Given the description of an element on the screen output the (x, y) to click on. 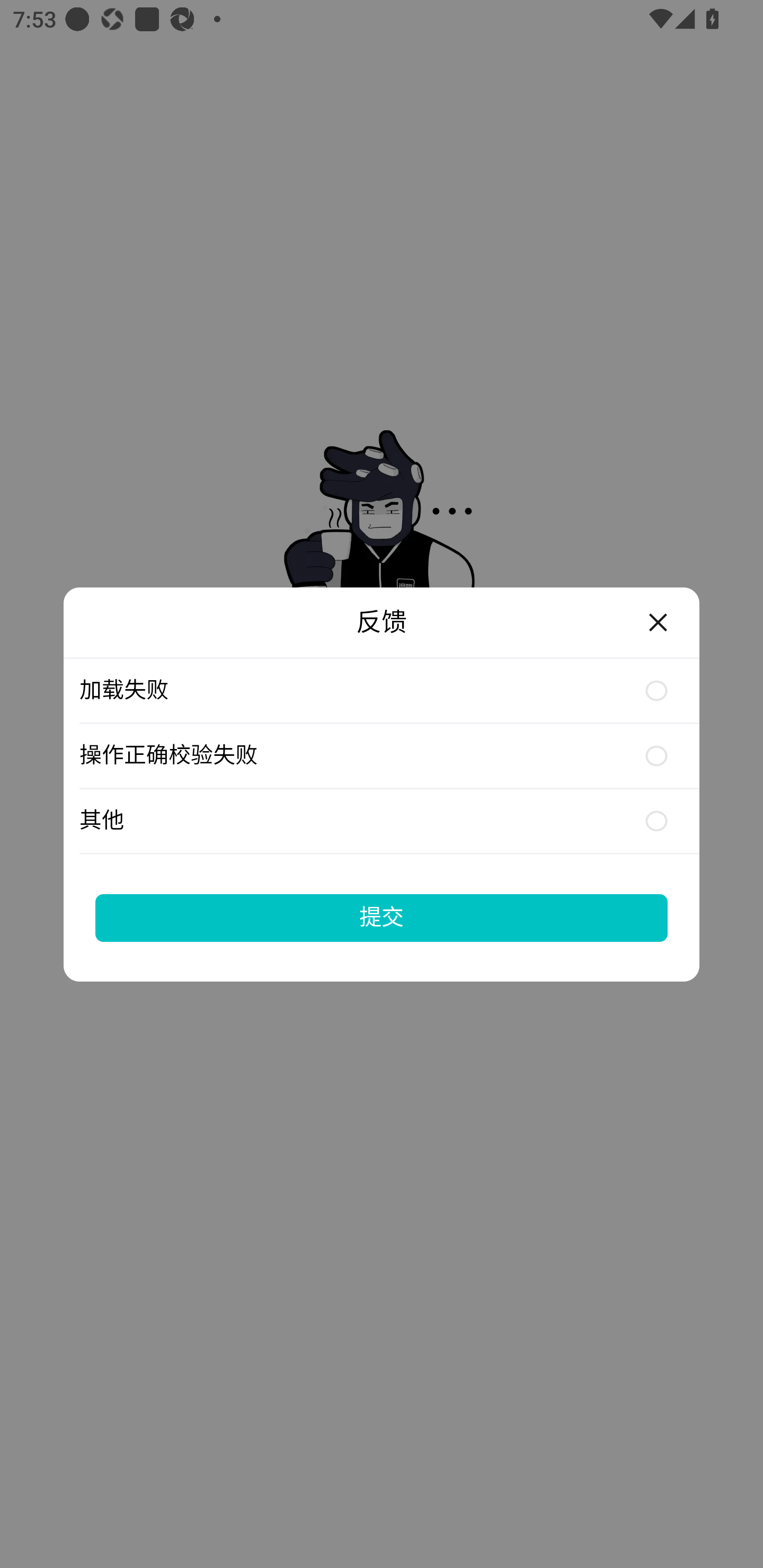
提交 (381, 917)
